Given the description of an element on the screen output the (x, y) to click on. 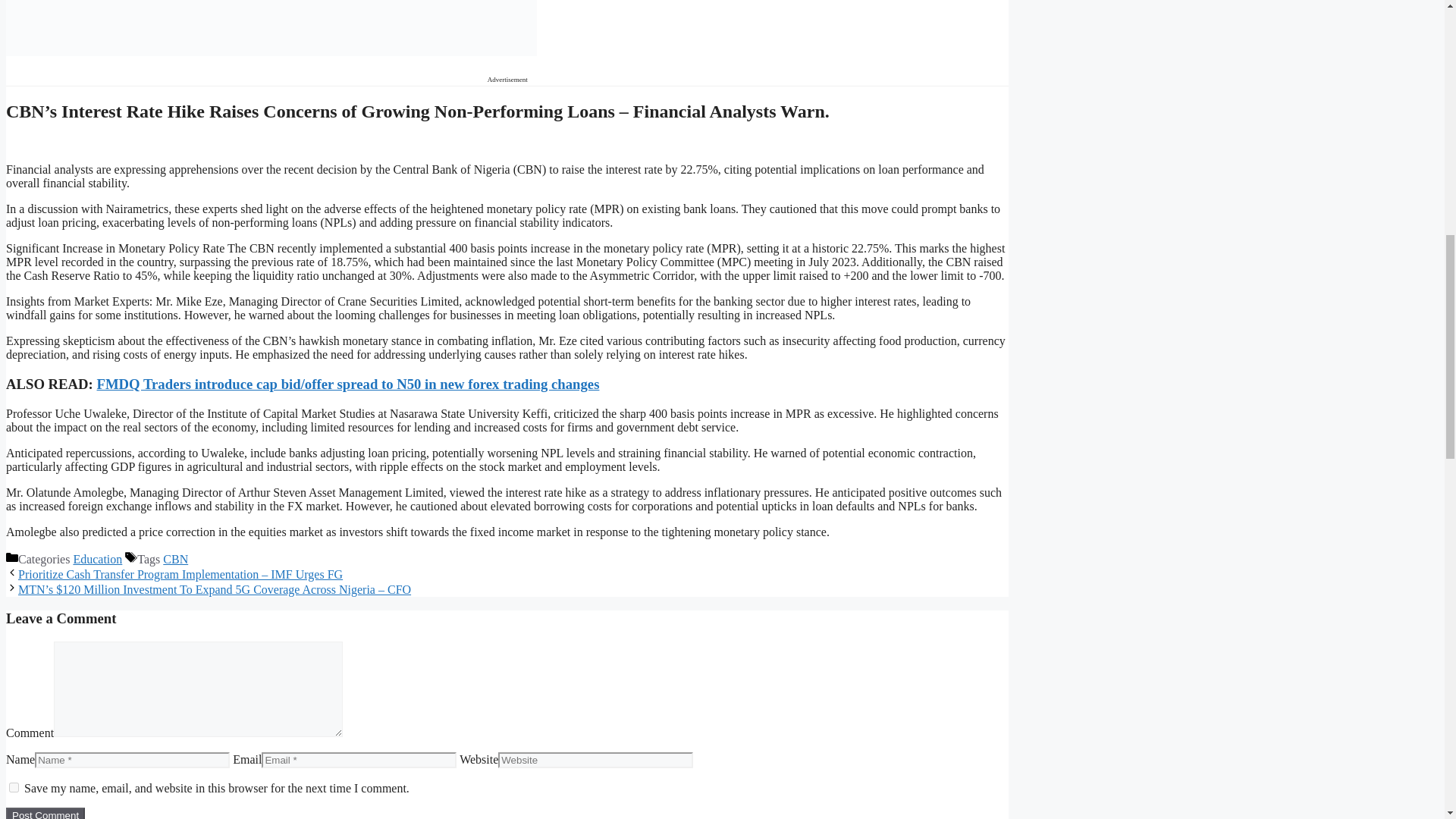
Post Comment (44, 813)
CBN (175, 558)
Scroll back to top (1406, 720)
yes (13, 787)
Education (97, 558)
Post Comment (44, 813)
